Given the description of an element on the screen output the (x, y) to click on. 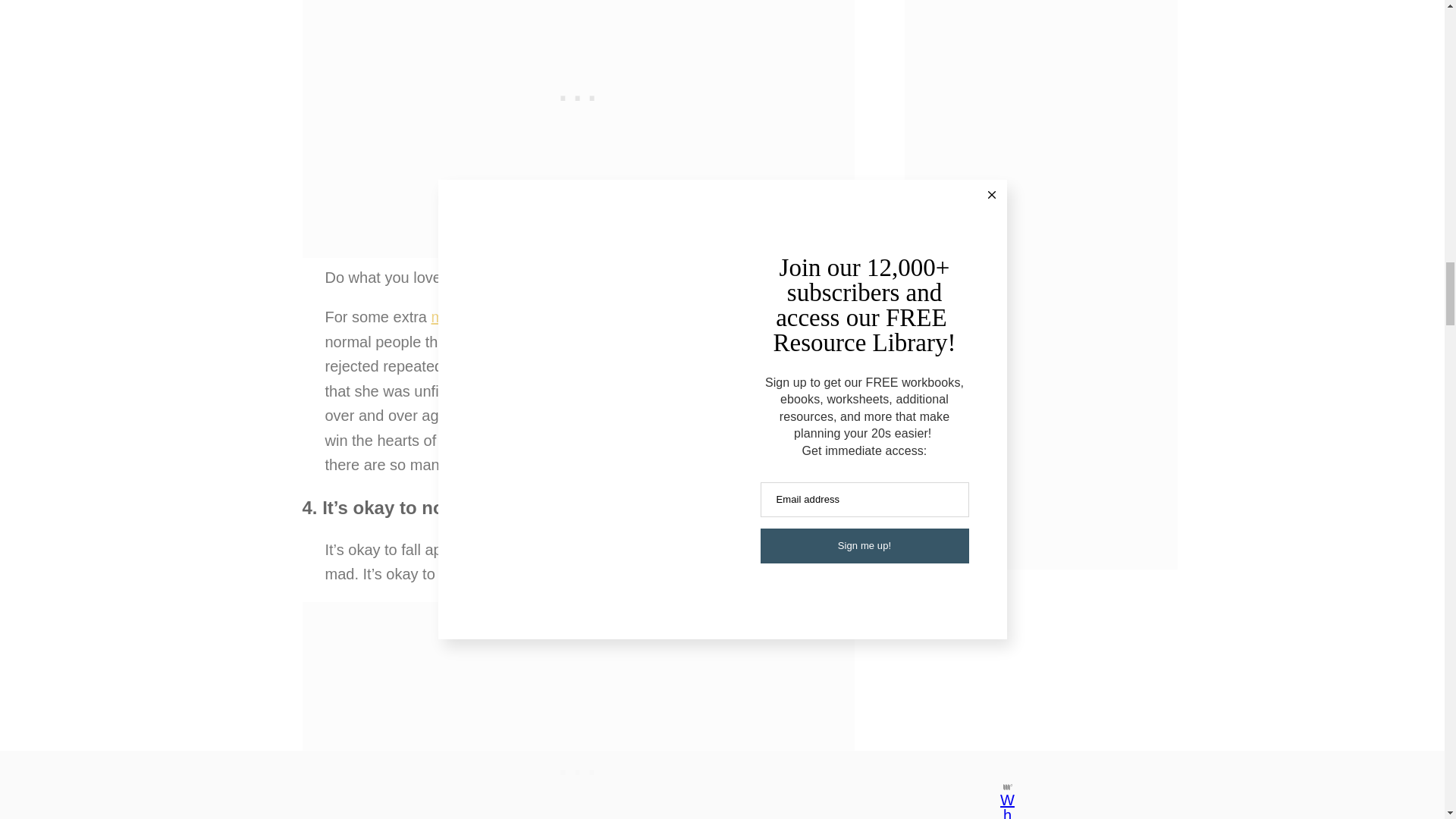
3rd party ad content (577, 56)
more (468, 464)
motivation (465, 316)
